Given the description of an element on the screen output the (x, y) to click on. 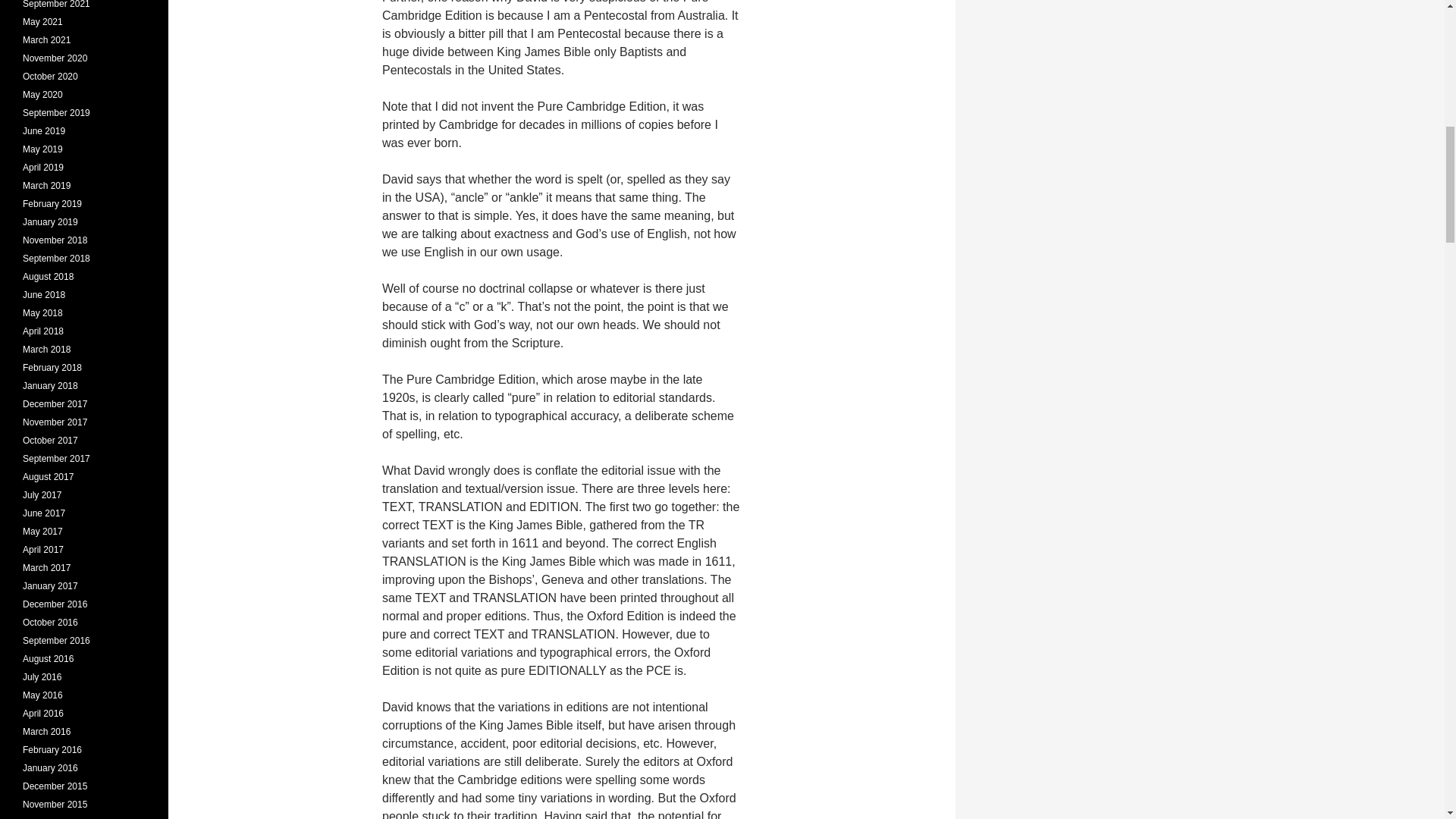
May 2021 (42, 21)
March 2021 (46, 40)
September 2021 (56, 4)
